Given the description of an element on the screen output the (x, y) to click on. 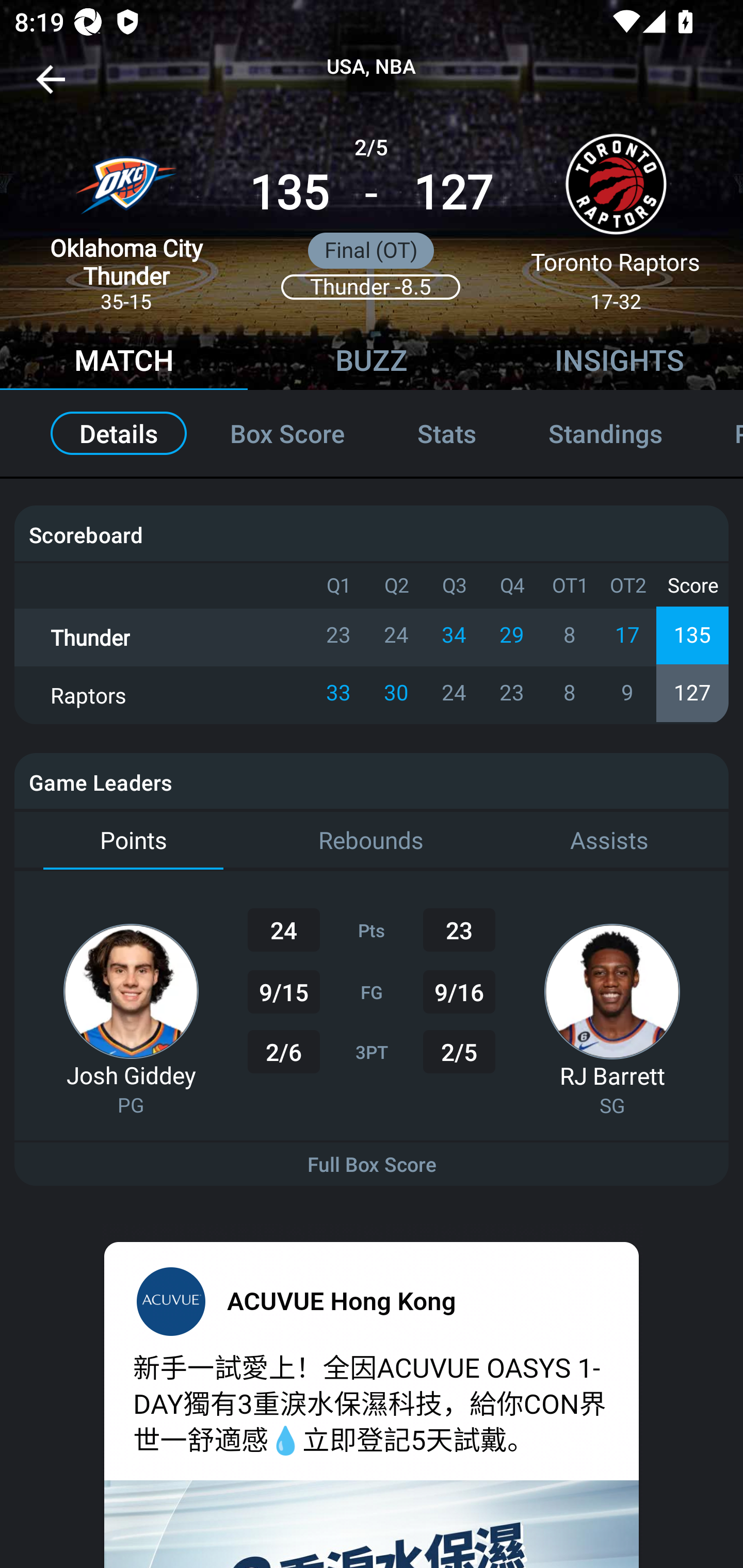
Navigate up (50, 86)
USA, NBA (371, 66)
Oklahoma City Thunder 35-15 (126, 214)
Toronto Raptors 17-32 (616, 214)
135 (288, 192)
127 (453, 192)
MATCH (123, 362)
BUZZ (371, 362)
INSIGHTS (619, 362)
Box Score (287, 433)
Stats (446, 433)
Standings (605, 433)
Rebounds (371, 841)
Assists (609, 841)
Josh Giddey (131, 1074)
RJ Barrett (611, 1075)
Full Box Score (371, 1164)
ACUVUE Hong Kong (341, 1300)
